Given the description of an element on the screen output the (x, y) to click on. 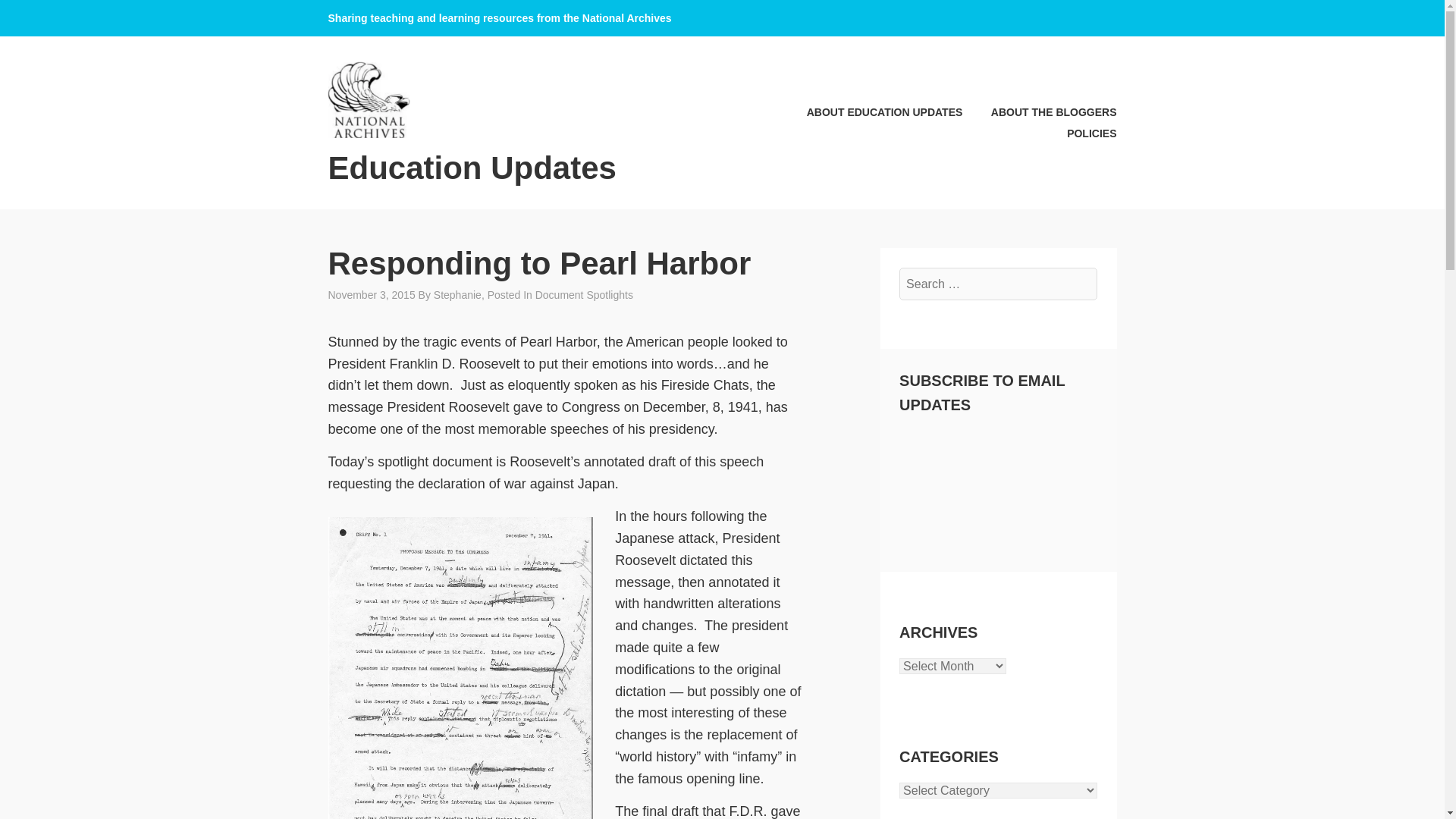
Stephanie (457, 295)
Search (48, 17)
Education Updates (471, 167)
Document Spotlights (584, 295)
November 3, 2015 (370, 295)
ABOUT EDUCATION UPDATES (871, 111)
Form 0 (998, 485)
POLICIES (1079, 133)
ABOUT THE BLOGGERS (1040, 111)
